Given the description of an element on the screen output the (x, y) to click on. 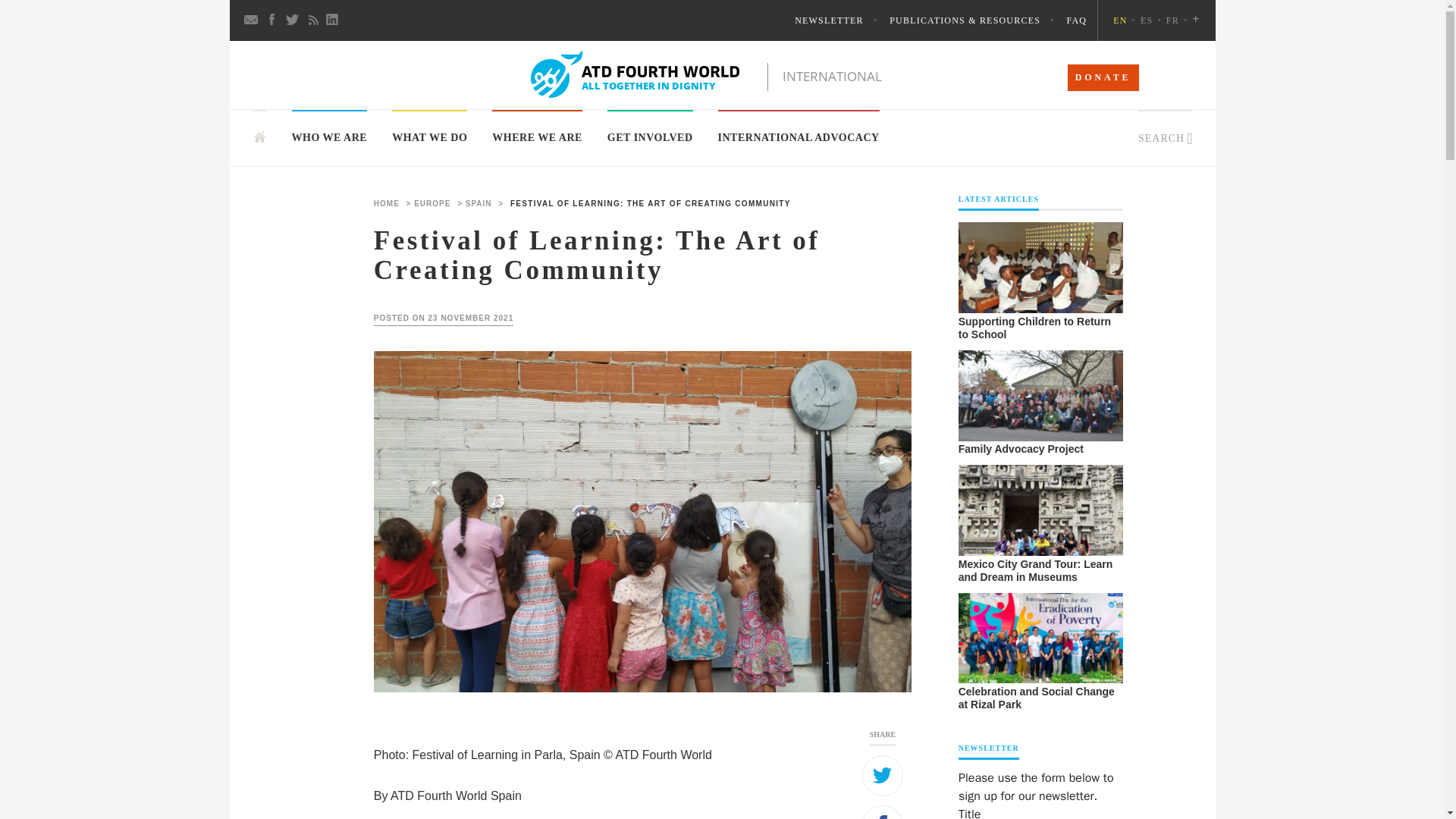
Facebook (881, 812)
RSS (312, 20)
Facebook (271, 20)
NEWSLETTER (840, 21)
EN (1126, 21)
Twitter (292, 20)
Twitter (881, 775)
ES (1153, 21)
FAQ (1075, 21)
LinkedIn (333, 20)
FR (1179, 21)
Newsletter (251, 20)
Other languages (1195, 21)
